Given the description of an element on the screen output the (x, y) to click on. 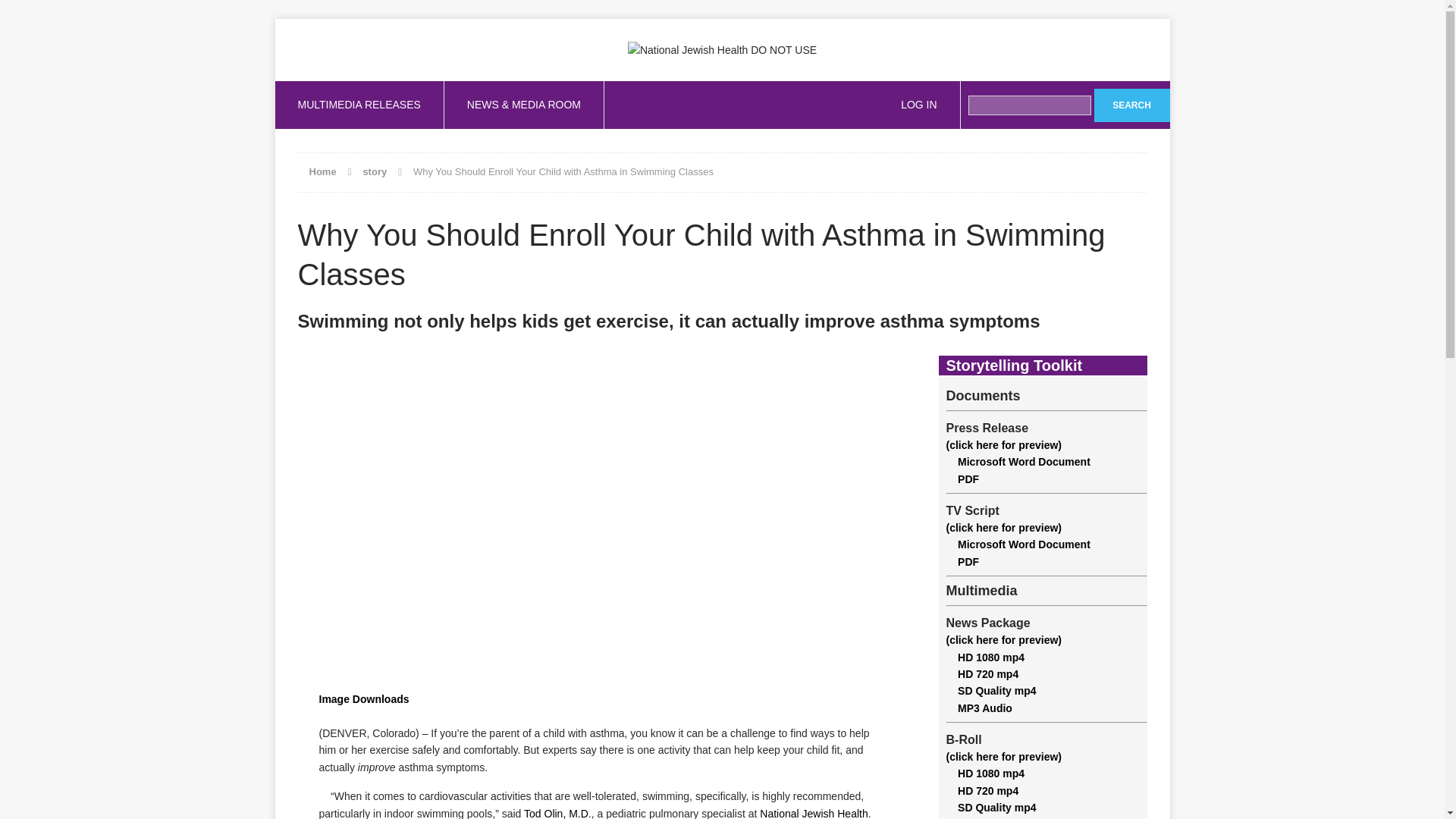
MULTIMEDIA RELEASES (358, 104)
    PDF (962, 562)
    Microsoft Word Document (1018, 461)
    HD 720 mp4 (982, 674)
Home (322, 171)
    PDF (962, 479)
National Jewish Health (813, 812)
    HD 1080 mp4 (985, 657)
    MP3 Audio (978, 707)
LOG IN (918, 104)
